Given the description of an element on the screen output the (x, y) to click on. 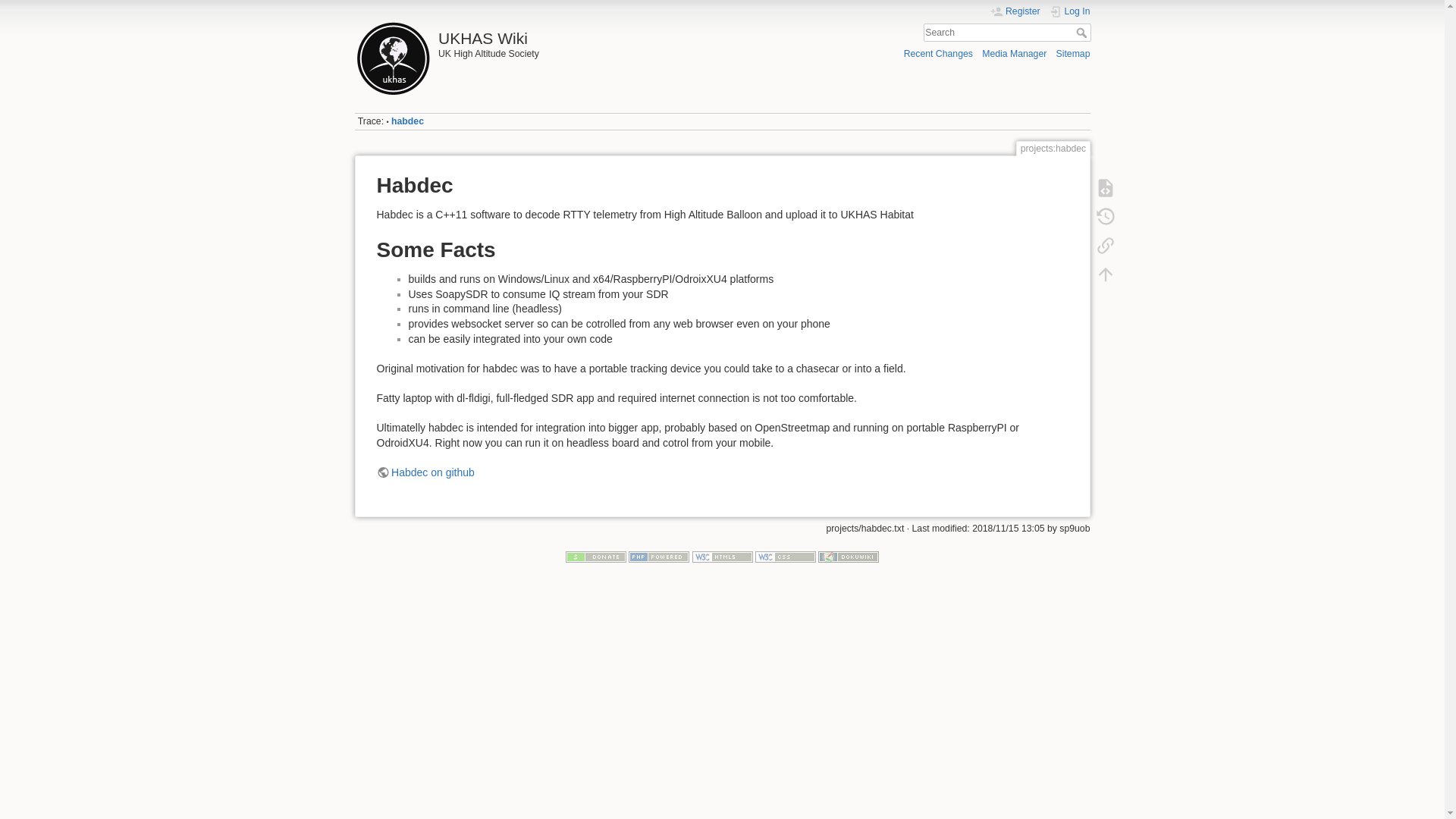
Register (1014, 11)
Backlinks (1104, 245)
UKHAS Wiki (534, 34)
Habdec on github (424, 472)
projects:habdec (407, 121)
Media Manager (1013, 53)
Media Manager (1013, 53)
Sitemap (1073, 53)
Register (1014, 11)
Log In (1069, 11)
Log In (1069, 11)
Recent Changes (938, 53)
Search (1082, 32)
habdec (407, 121)
Search (1082, 32)
